Given the description of an element on the screen output the (x, y) to click on. 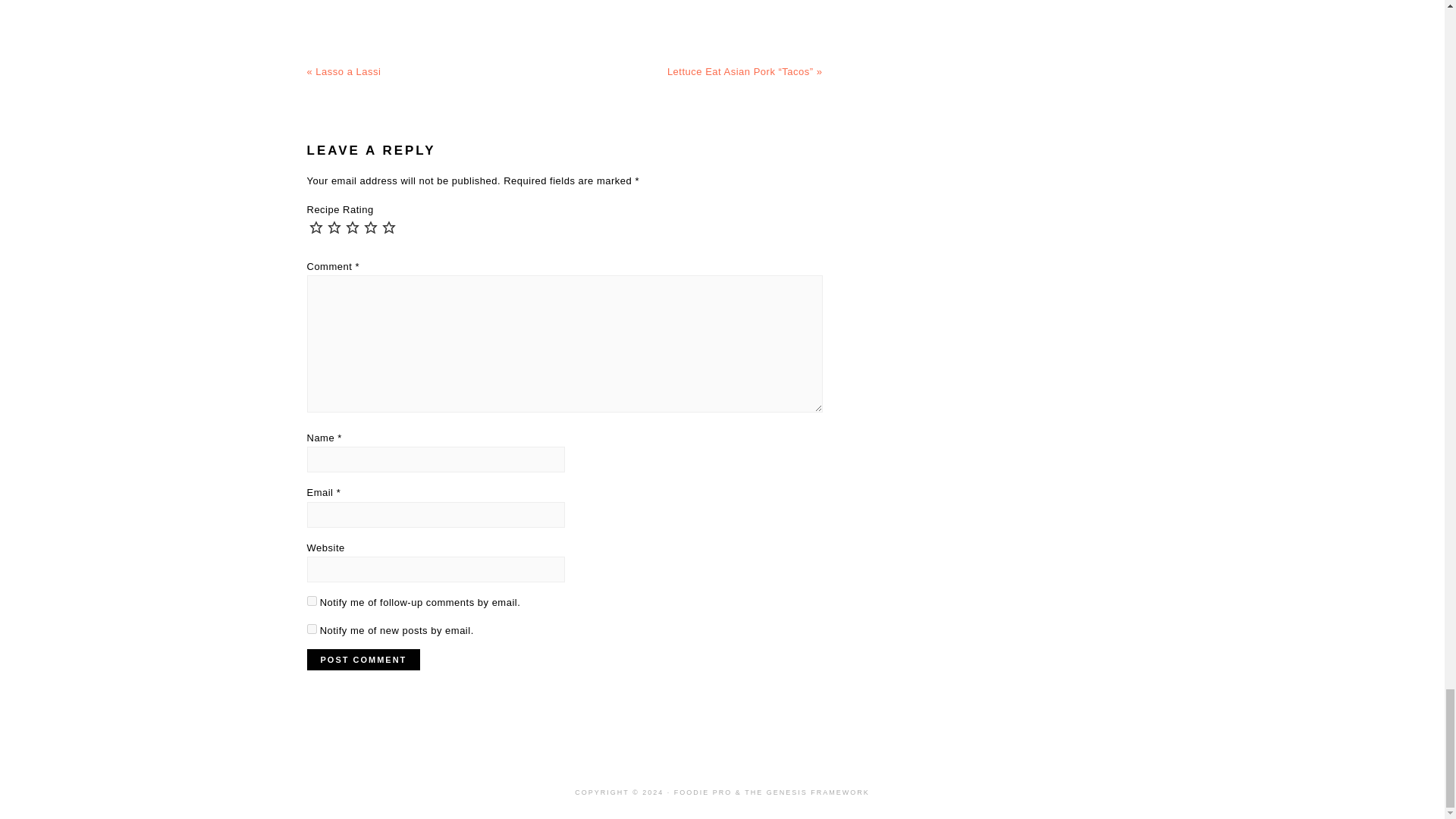
Post Comment (362, 659)
subscribe (310, 601)
subscribe (310, 628)
